Given the description of an element on the screen output the (x, y) to click on. 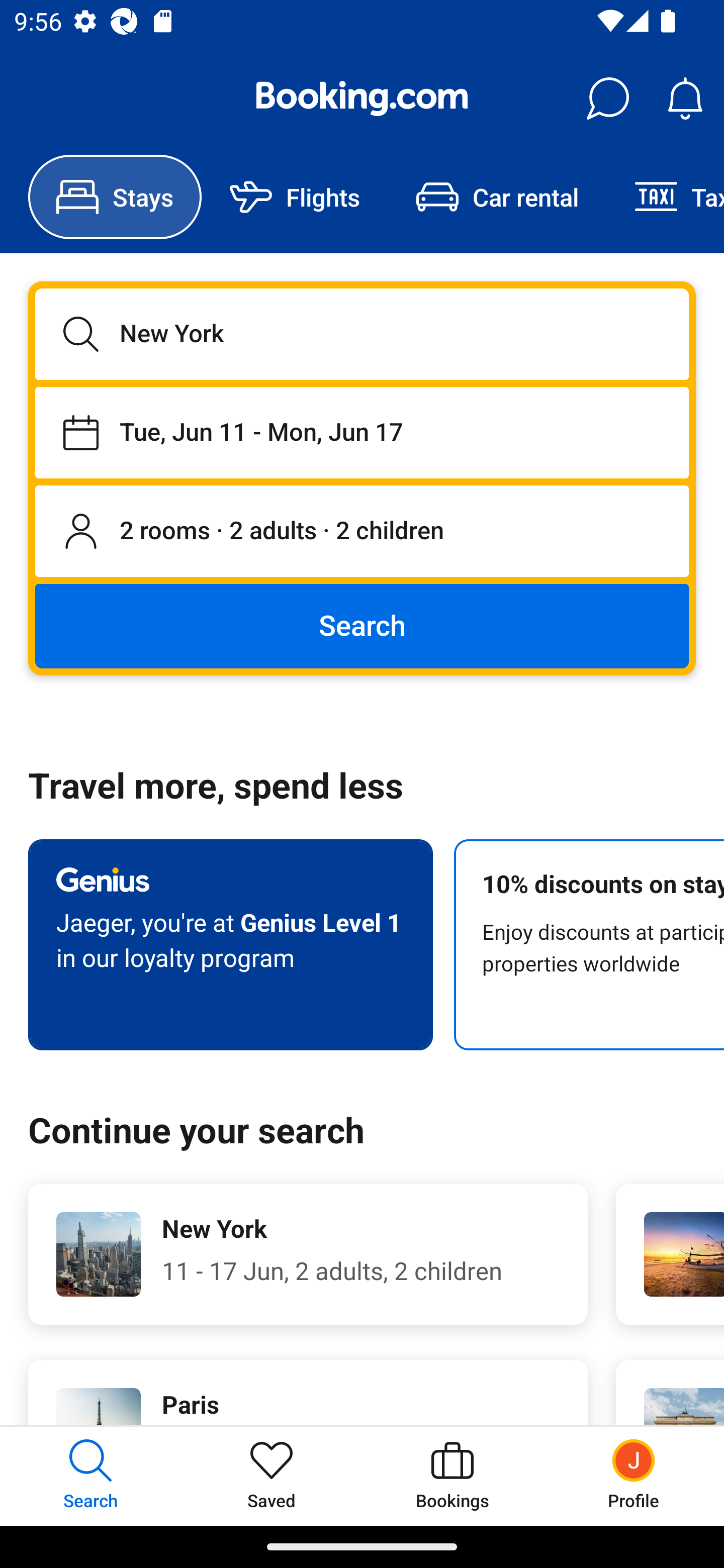
Messages (607, 98)
Notifications (685, 98)
Stays (114, 197)
Flights (294, 197)
Car rental (497, 197)
Taxi (665, 197)
New York (361, 333)
Staying from Tue, Jun 11 until Mon, Jun 17 (361, 432)
2 rooms, 2 adults, 2 children (361, 531)
Search (361, 625)
New York 11 - 17 Jun, 2 adults, 2 children (307, 1253)
Saved (271, 1475)
Bookings (452, 1475)
Profile (633, 1475)
